Given the description of an element on the screen output the (x, y) to click on. 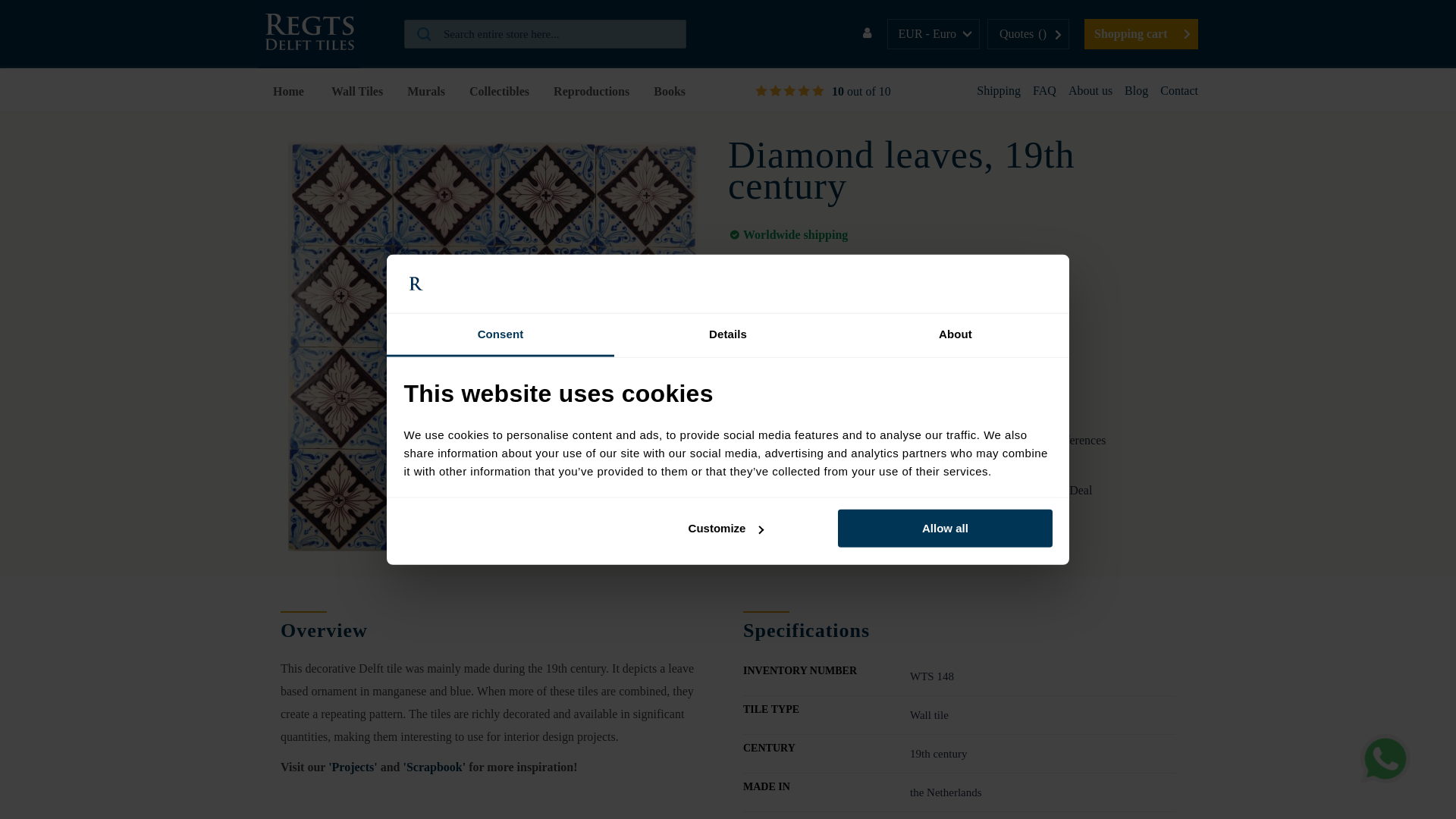
Quotes (1024, 33)
Shopping cart (1141, 33)
Consent (500, 335)
Allow all (944, 528)
Customize (725, 528)
Search (553, 33)
Details (727, 335)
Quotes (1024, 33)
About (954, 335)
Home (290, 91)
Add to Quote (816, 309)
